Given the description of an element on the screen output the (x, y) to click on. 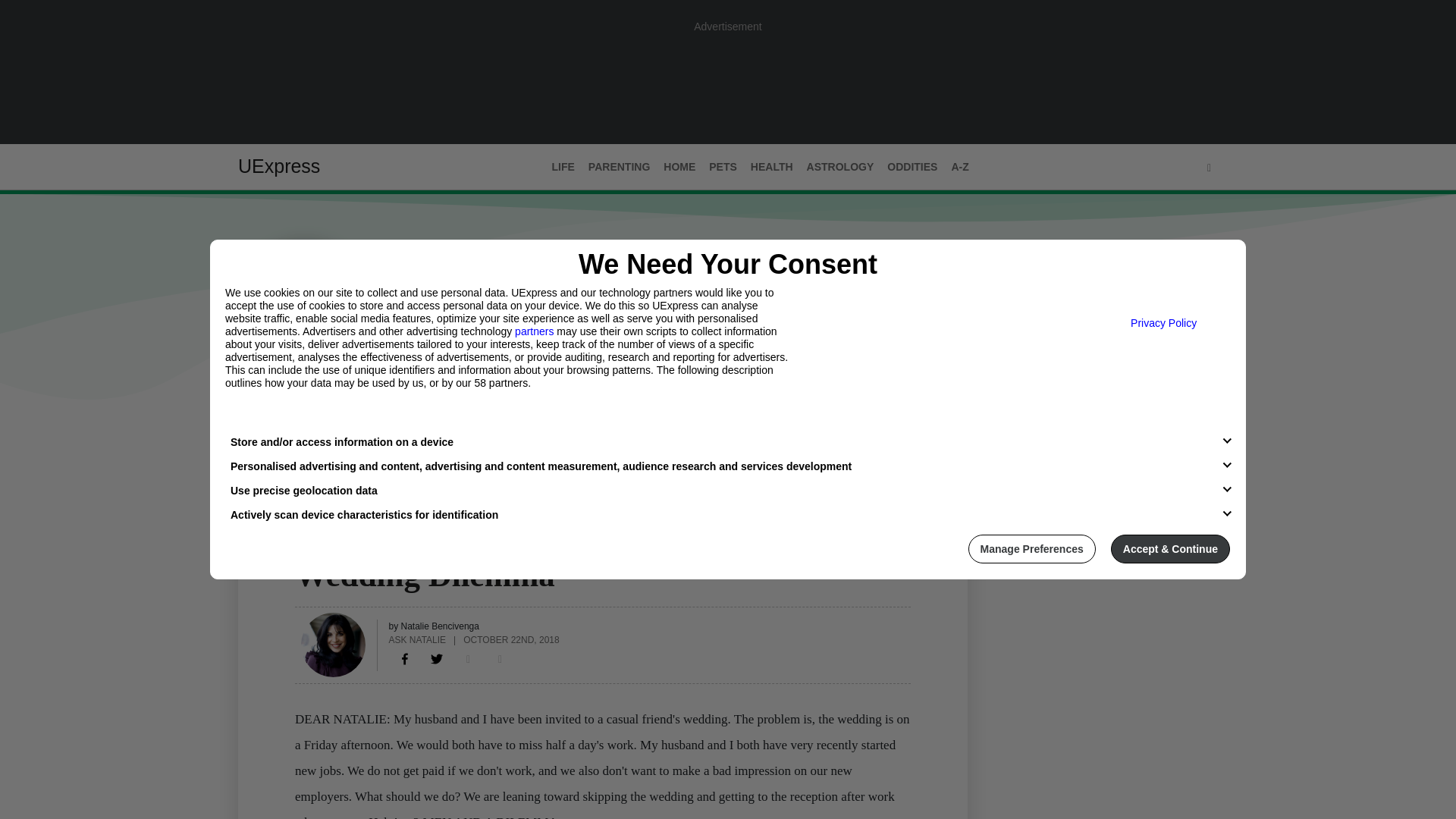
Wedding Dilemma (404, 658)
ODDITIES (911, 166)
A-Z (959, 166)
ASK NATALIE (416, 639)
LIFE (306, 545)
Latest (256, 431)
UExpress (279, 166)
PARENTING (618, 166)
LIFE (562, 166)
ASTROLOGY (839, 166)
HEALTH (771, 166)
Archives (371, 431)
HOME (678, 166)
About (309, 431)
PETS (722, 166)
